Given the description of an element on the screen output the (x, y) to click on. 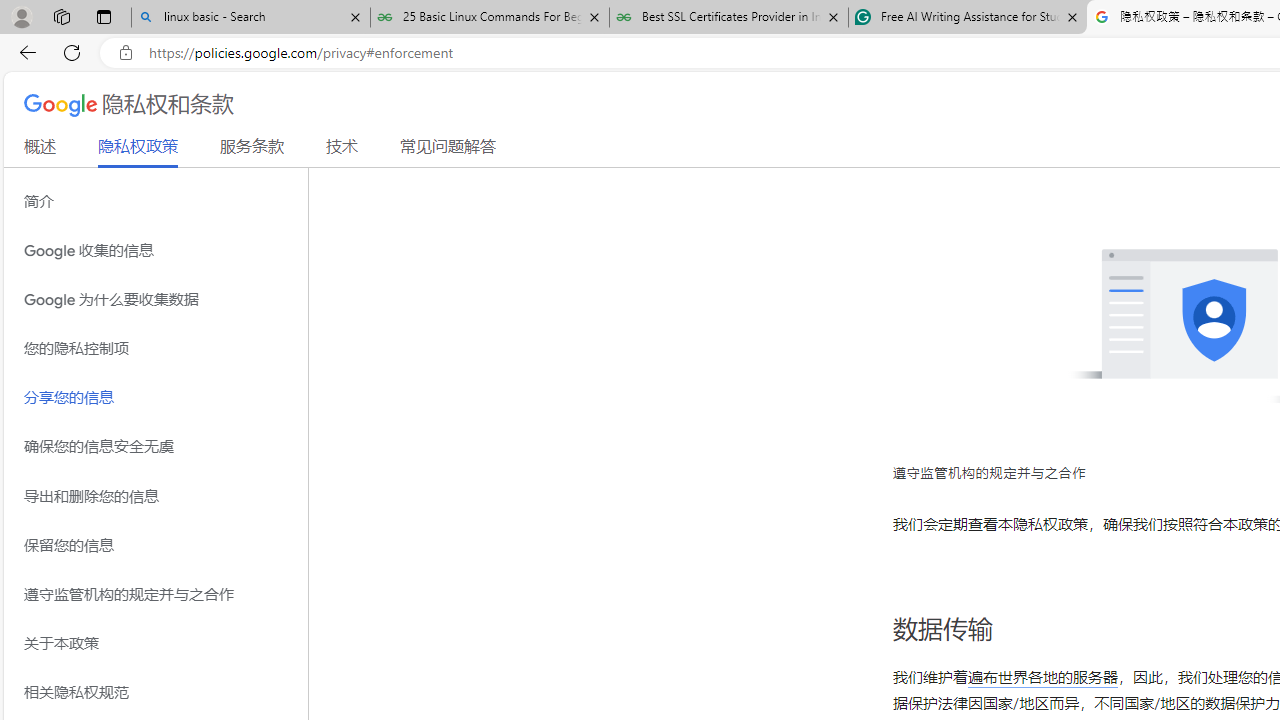
Best SSL Certificates Provider in India - GeeksforGeeks (729, 17)
linux basic - Search (250, 17)
25 Basic Linux Commands For Beginners - GeeksforGeeks (490, 17)
Free AI Writing Assistance for Students | Grammarly (967, 17)
